Given the description of an element on the screen output the (x, y) to click on. 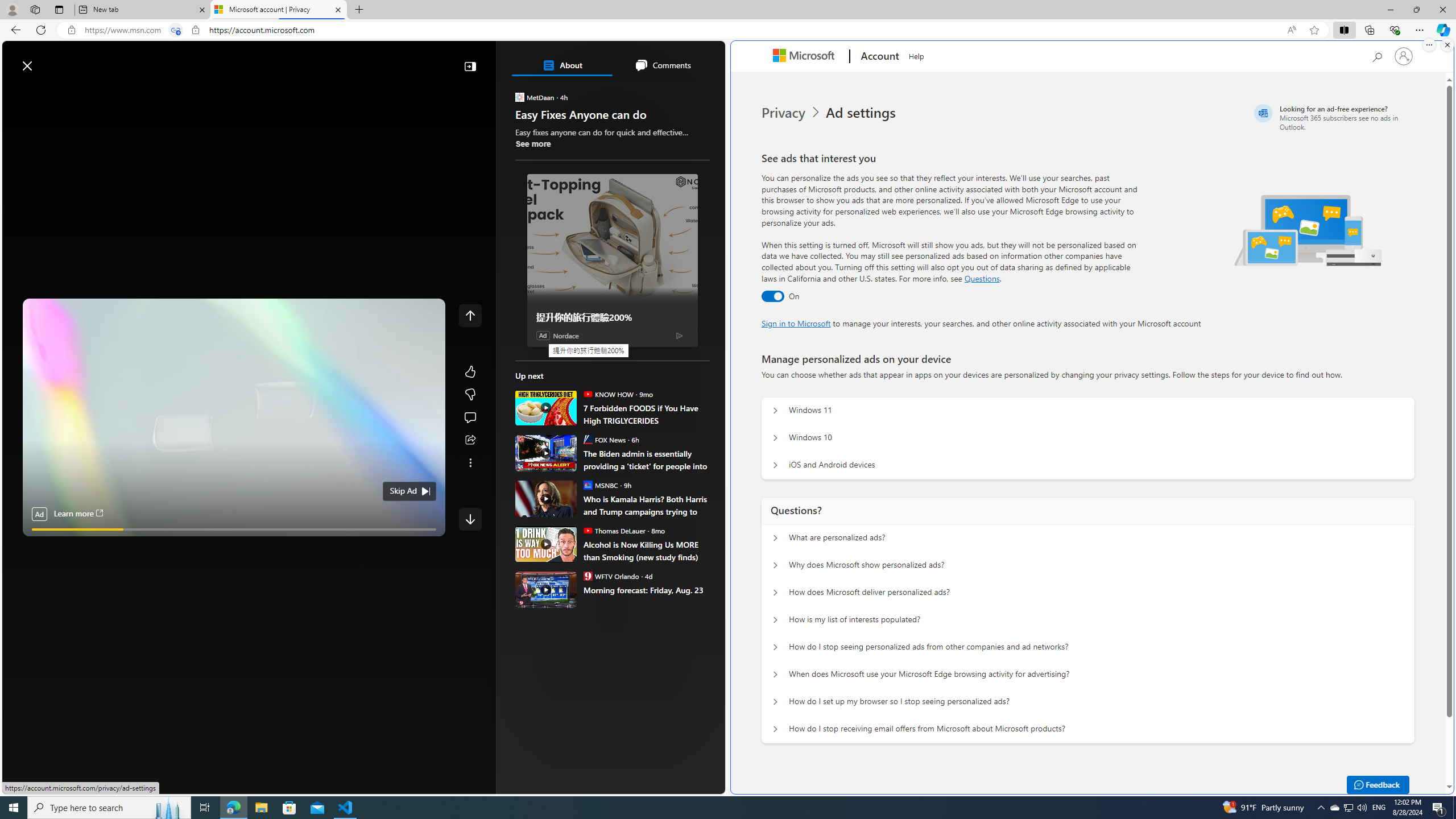
Class: control icon-only (469, 315)
Skip to footer (46, 59)
WFTV Orlando WFTV Orlando (610, 575)
Like (469, 371)
Share this story (469, 440)
About (561, 64)
Pause (38, 542)
Summer Sale! Up to -55% (616, 515)
Morning forecast: Friday, Aug. 23 (545, 588)
